Given the description of an element on the screen output the (x, y) to click on. 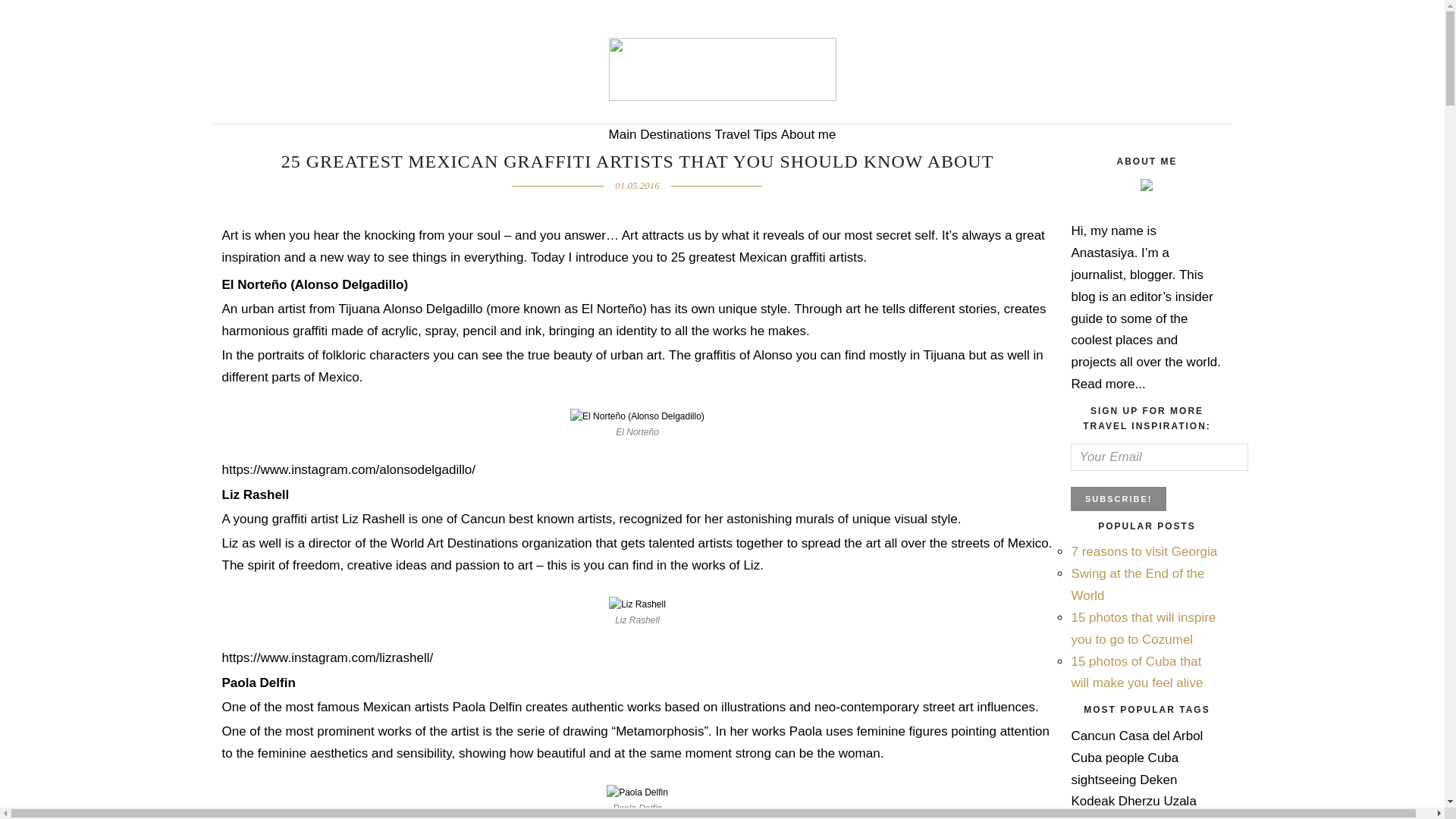
Subscribe! (1118, 498)
Swing at the End of the World (1137, 584)
15 photos that will inspire you to go to Cozumel (1142, 628)
7 reasons to visit Georgia (1143, 551)
15 photos of Cuba that will make you feel alive (1136, 672)
Your Email (1158, 456)
Subscribe! (1118, 498)
